Given the description of an element on the screen output the (x, y) to click on. 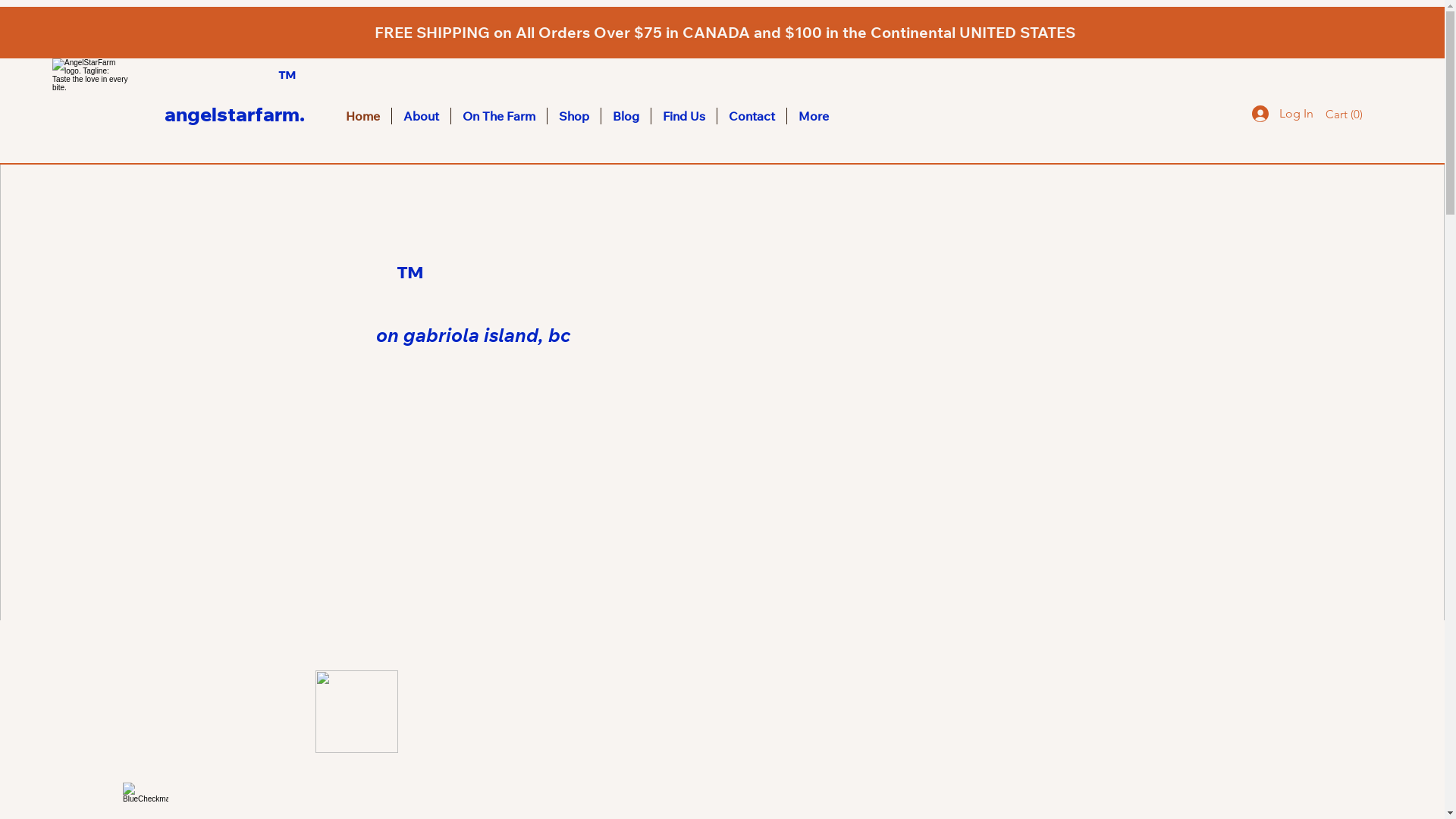
Contact Element type: text (751, 115)
About Element type: text (421, 115)
ASFLogo-4.png Element type: hover (90, 107)
Shop Element type: text (573, 115)
angelstarfarm. Element type: text (234, 113)
Find Us Element type: text (683, 115)
Blog Element type: text (625, 115)
Cart (0) Element type: text (1344, 114)
Home Element type: text (362, 115)
Log In Element type: text (1278, 113)
On The Farm Element type: text (498, 115)
UkrainianHeart.png Element type: hover (356, 711)
